Given the description of an element on the screen output the (x, y) to click on. 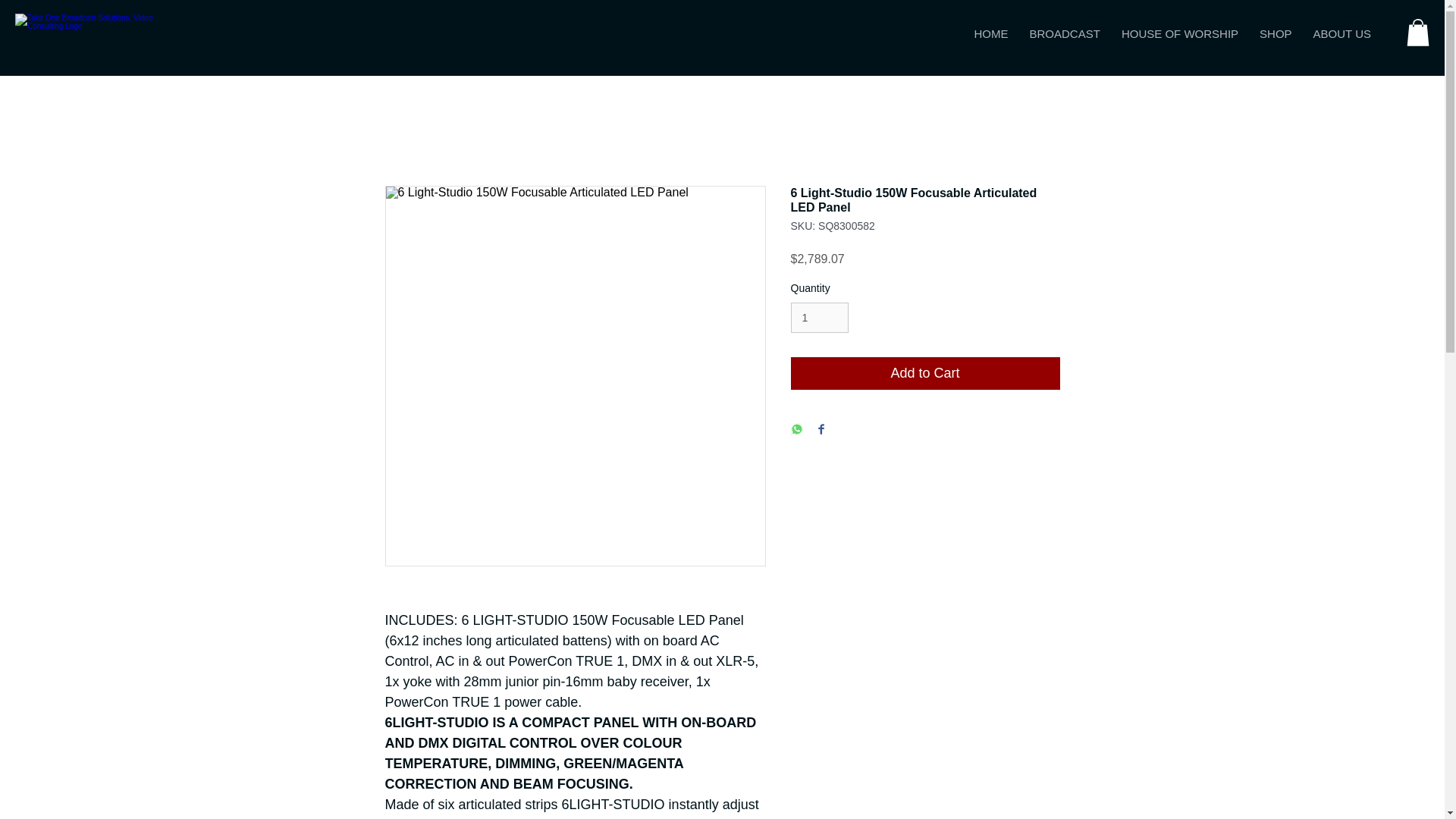
SHOP (1276, 33)
1 (818, 317)
ABOUT US (1341, 33)
HOUSE OF WORSHIP (1179, 33)
BROADCAST (1141, 33)
Add to Cart (1065, 33)
HOME (924, 373)
